Given the description of an element on the screen output the (x, y) to click on. 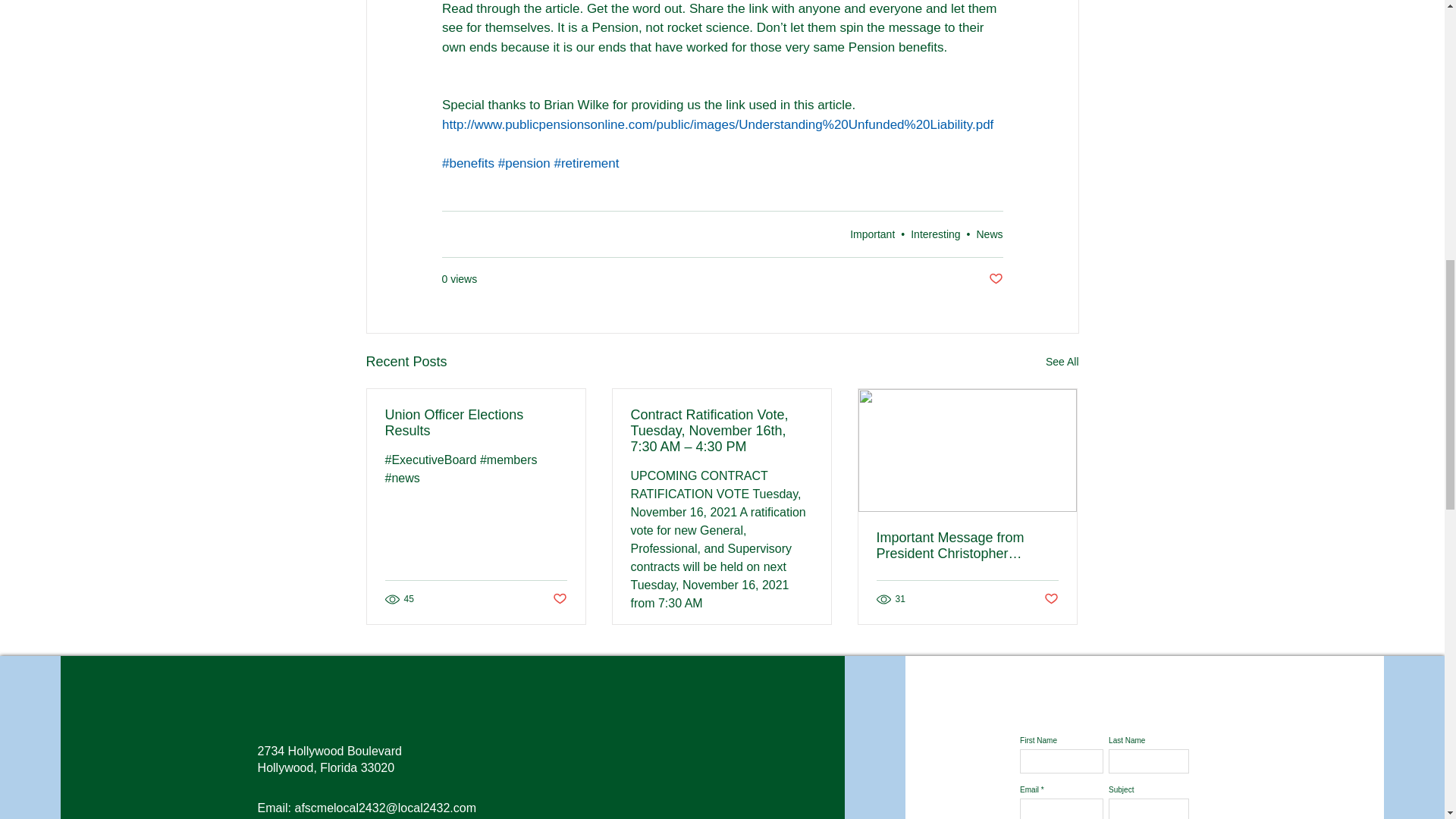
See All (1061, 362)
Interesting (935, 233)
Important (872, 233)
Post not marked as liked (558, 599)
News (989, 233)
Union Officer Elections Results (476, 422)
Post not marked as liked (995, 279)
